Given the description of an element on the screen output the (x, y) to click on. 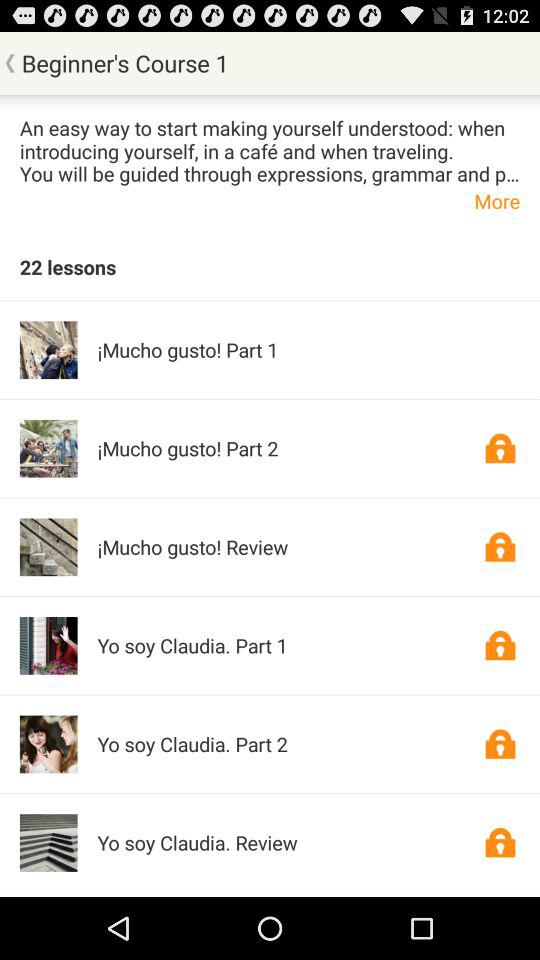
select the icon above 22 lessons app (269, 200)
